Given the description of an element on the screen output the (x, y) to click on. 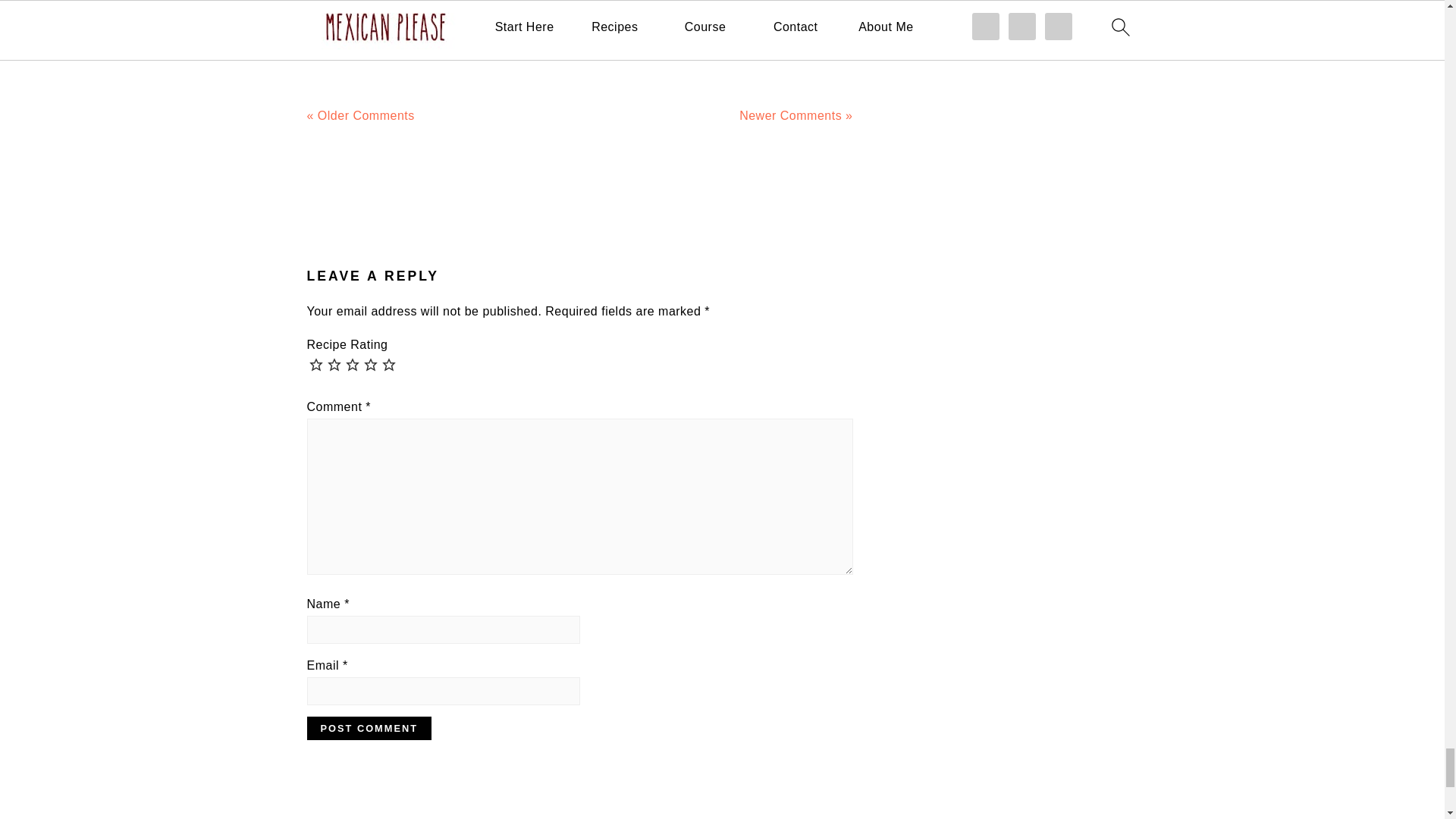
Post Comment (367, 728)
